Given the description of an element on the screen output the (x, y) to click on. 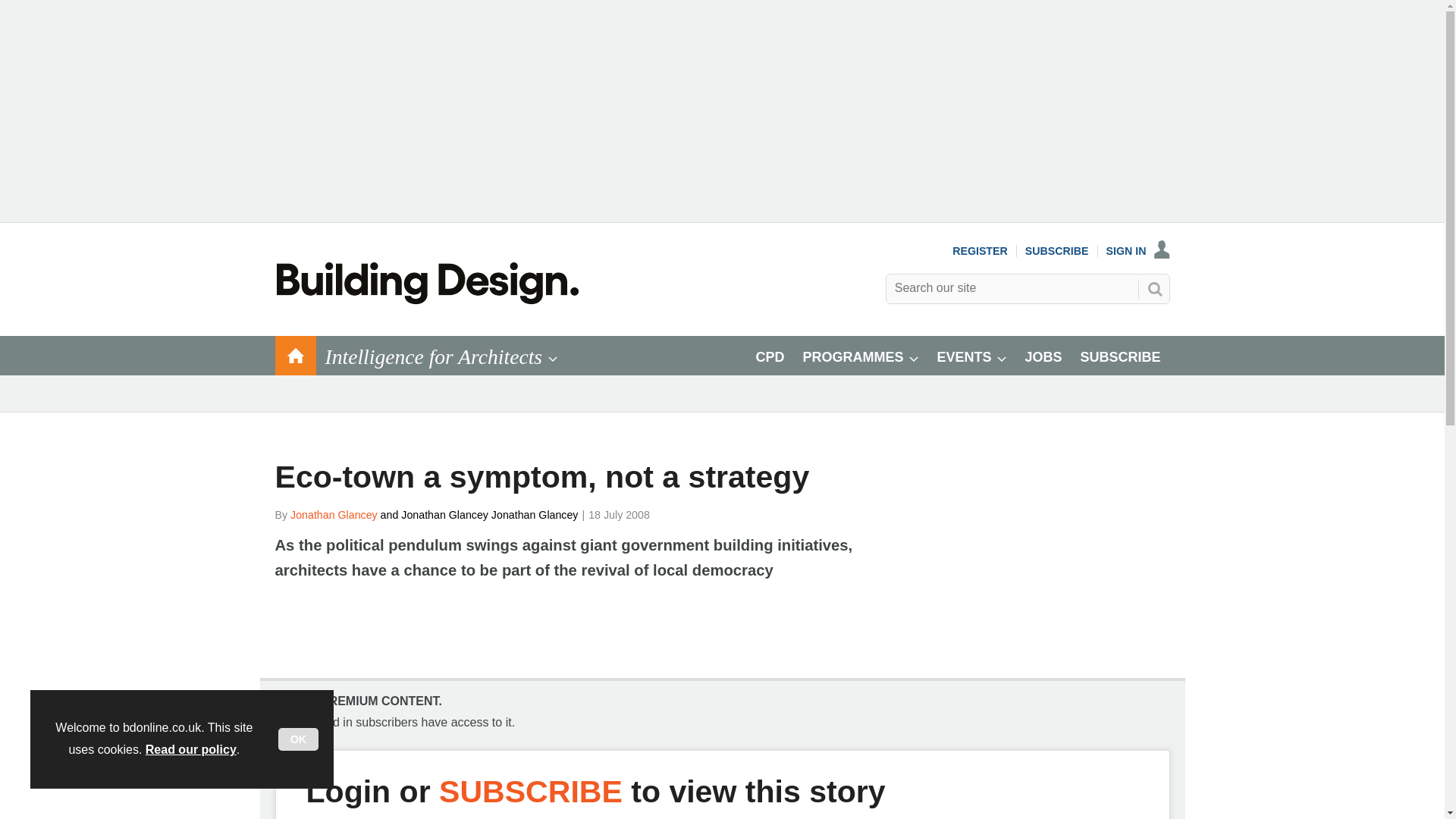
SEARCH (1153, 288)
SUBSCRIBE (1057, 250)
REGISTER (979, 250)
OK (298, 739)
SIGN IN (1138, 250)
Read our policy (190, 748)
